Given the description of an element on the screen output the (x, y) to click on. 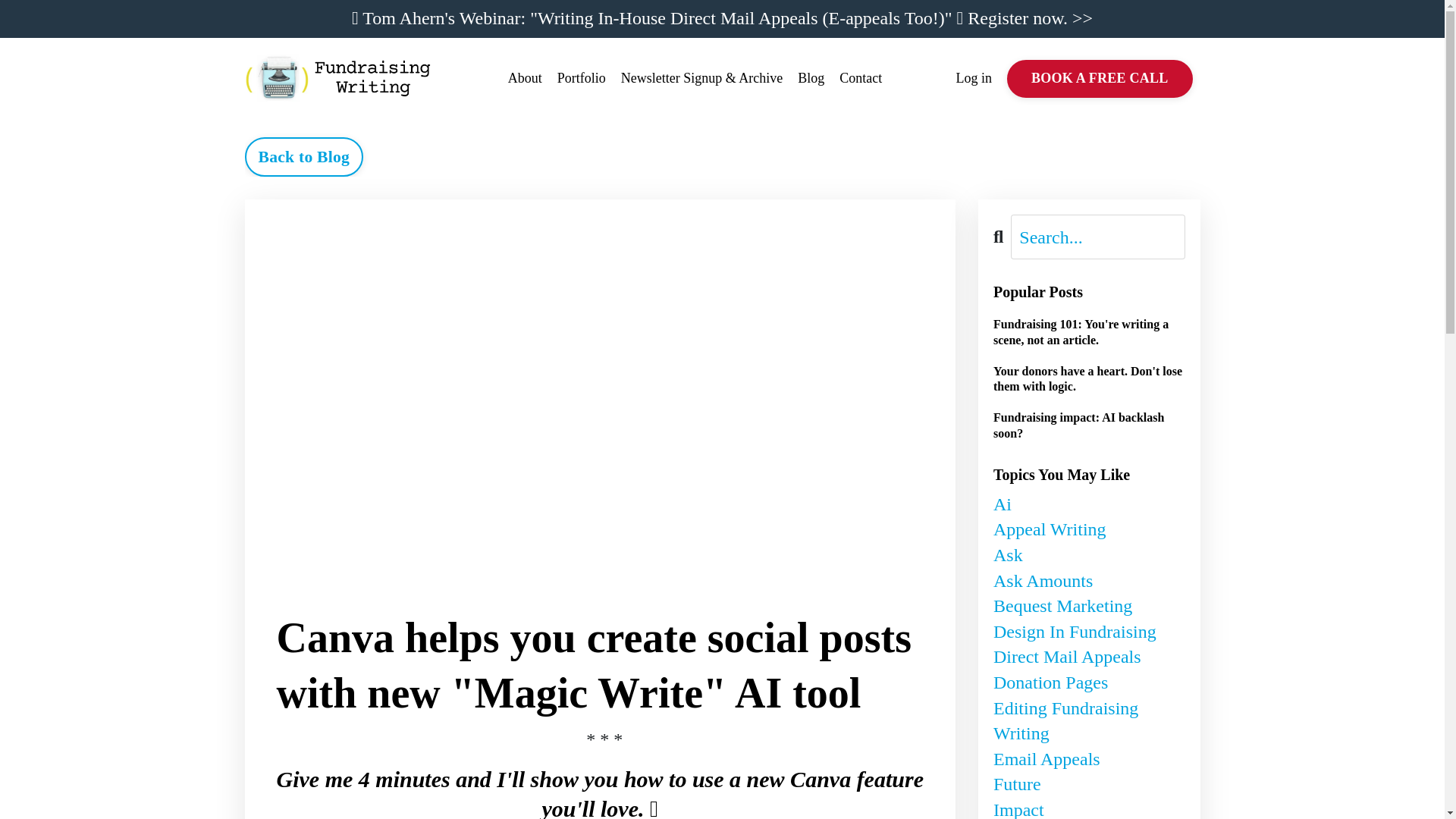
About (524, 77)
Ask (1088, 555)
Direct Mail Appeals (1088, 657)
Blog (810, 77)
Ask Amounts (1088, 581)
Email Appeals (1088, 759)
Ai (1088, 504)
Contact (861, 77)
Donation Pages (1088, 683)
Fundraising 101: You're writing a scene, not an article. (1088, 332)
